Given the description of an element on the screen output the (x, y) to click on. 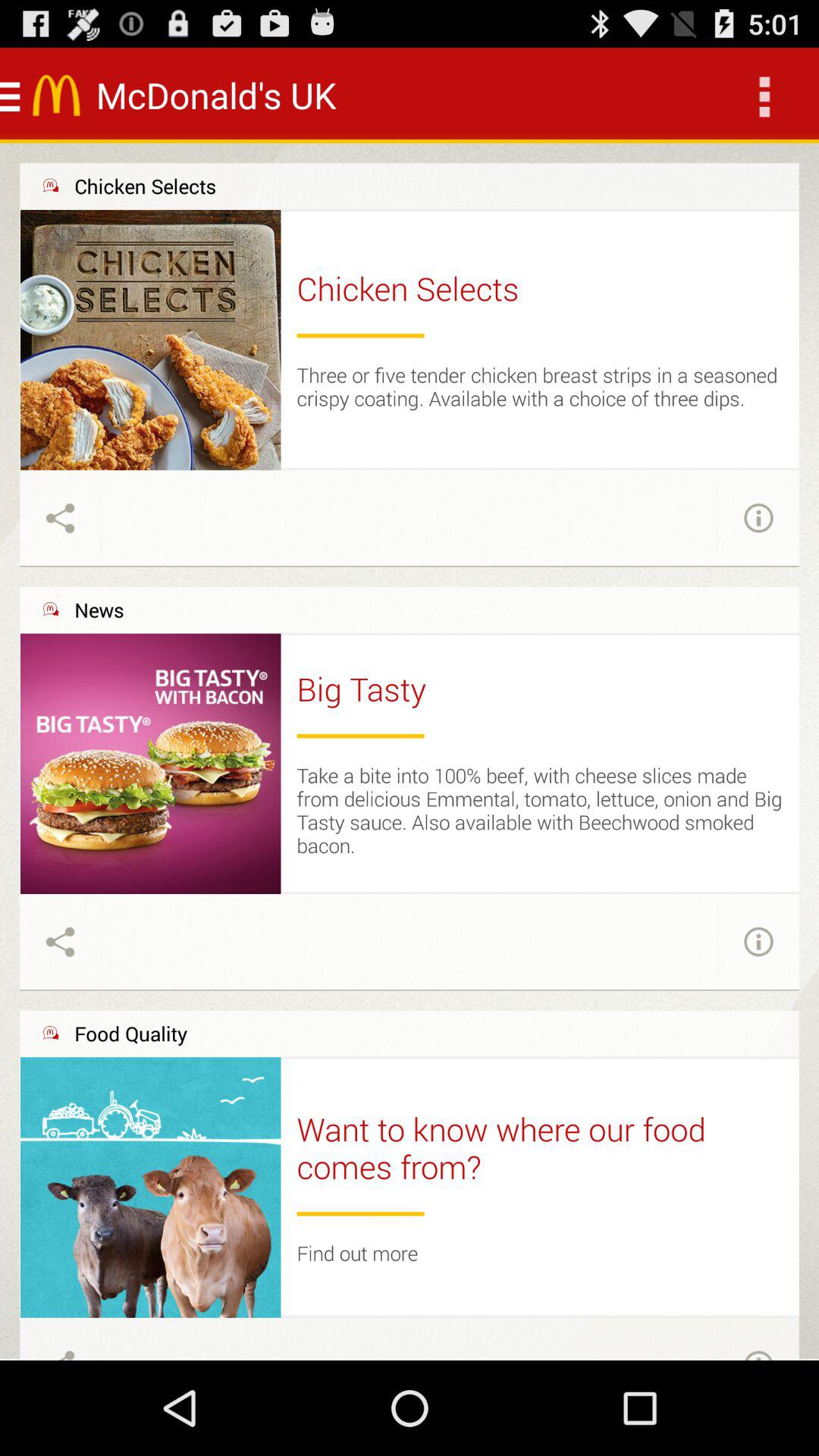
choose item below want to know (360, 1213)
